Given the description of an element on the screen output the (x, y) to click on. 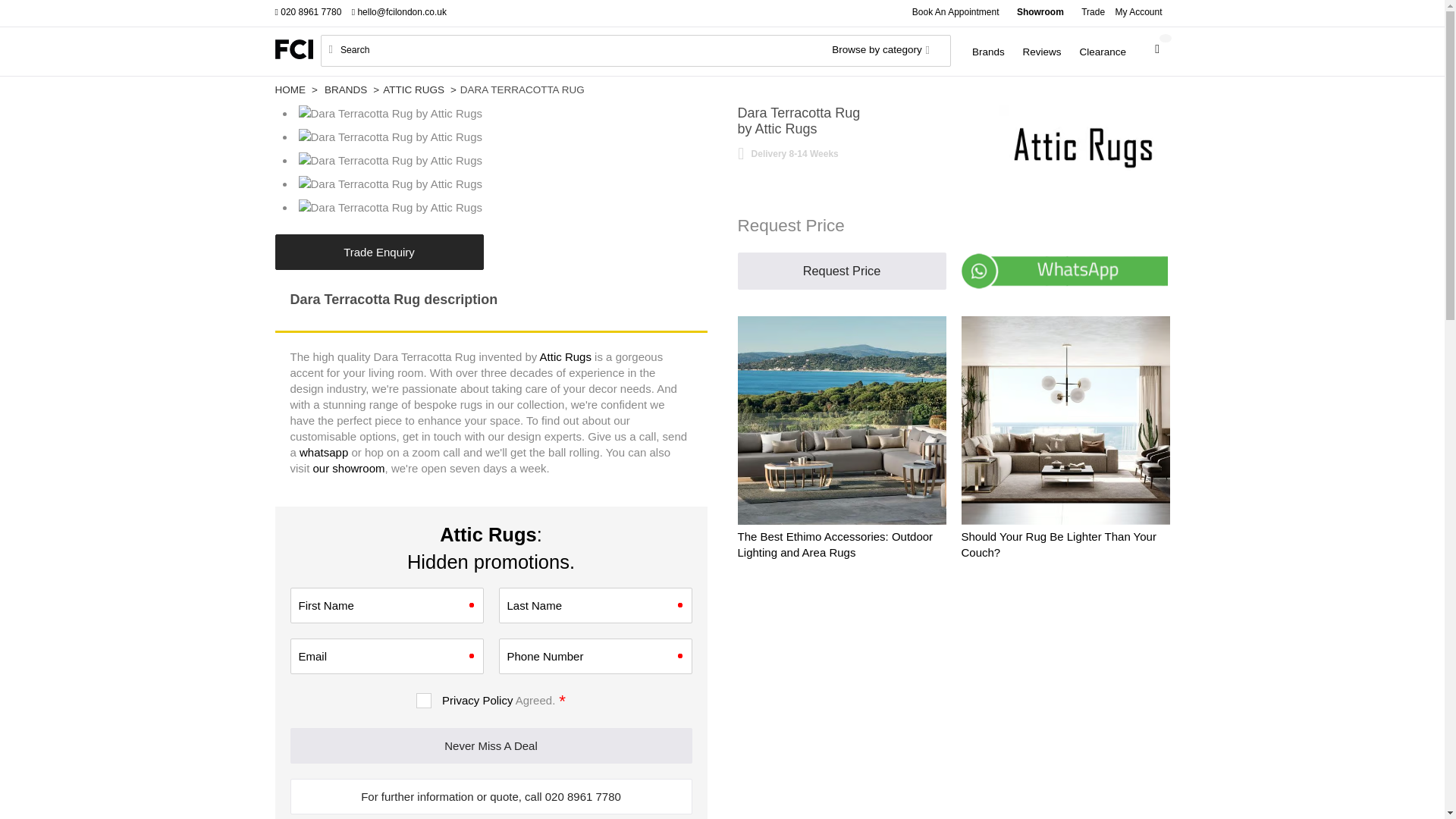
Trade (1093, 13)
2 to 255 characters (386, 605)
020 8961 7780 (312, 13)
My Account (1142, 13)
Never Miss A Deal (490, 745)
2 to 255 characters (596, 605)
Book An Appointment (955, 13)
Showroom (1040, 13)
